Given the description of an element on the screen output the (x, y) to click on. 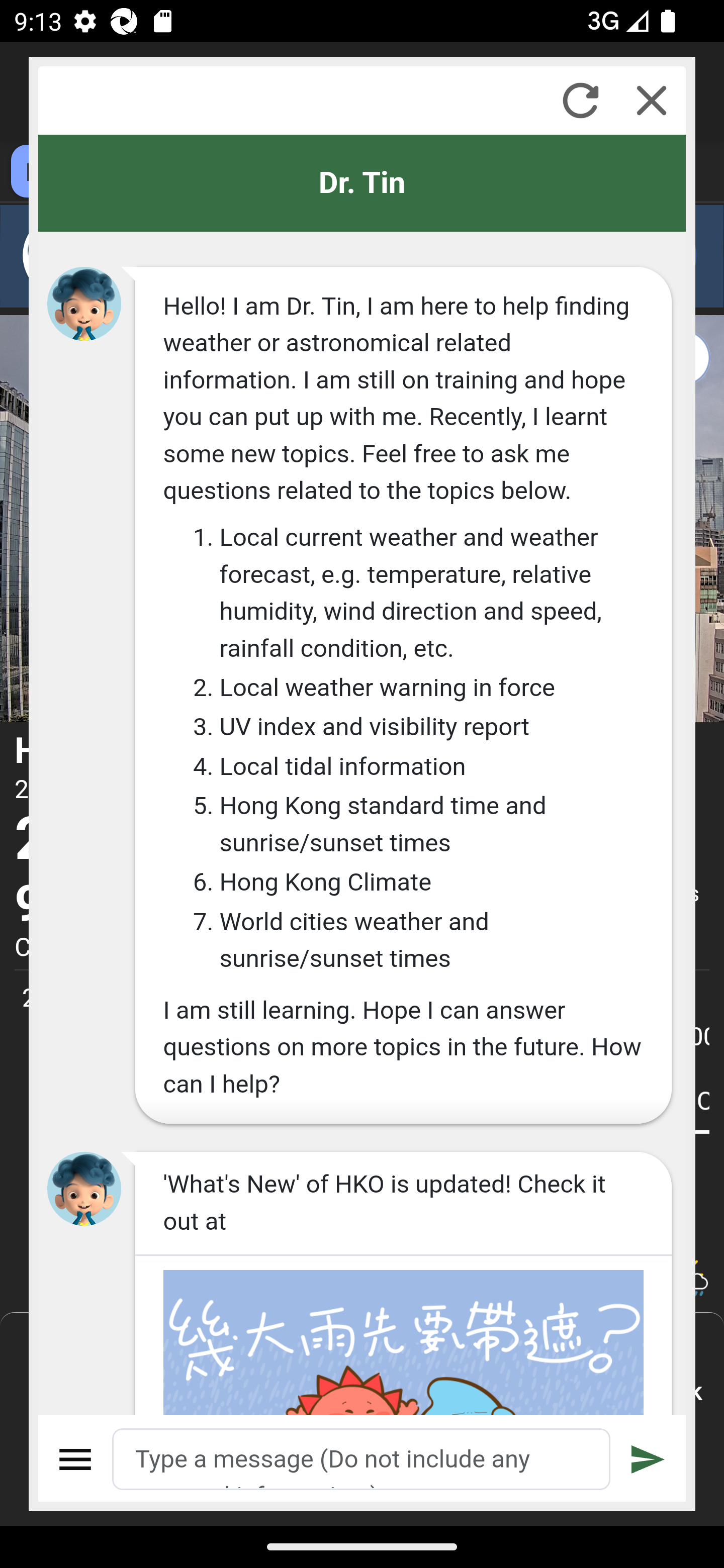
Refresh (580, 100)
Close (651, 100)
Menu (75, 1458)
Submit (648, 1458)
